Given the description of an element on the screen output the (x, y) to click on. 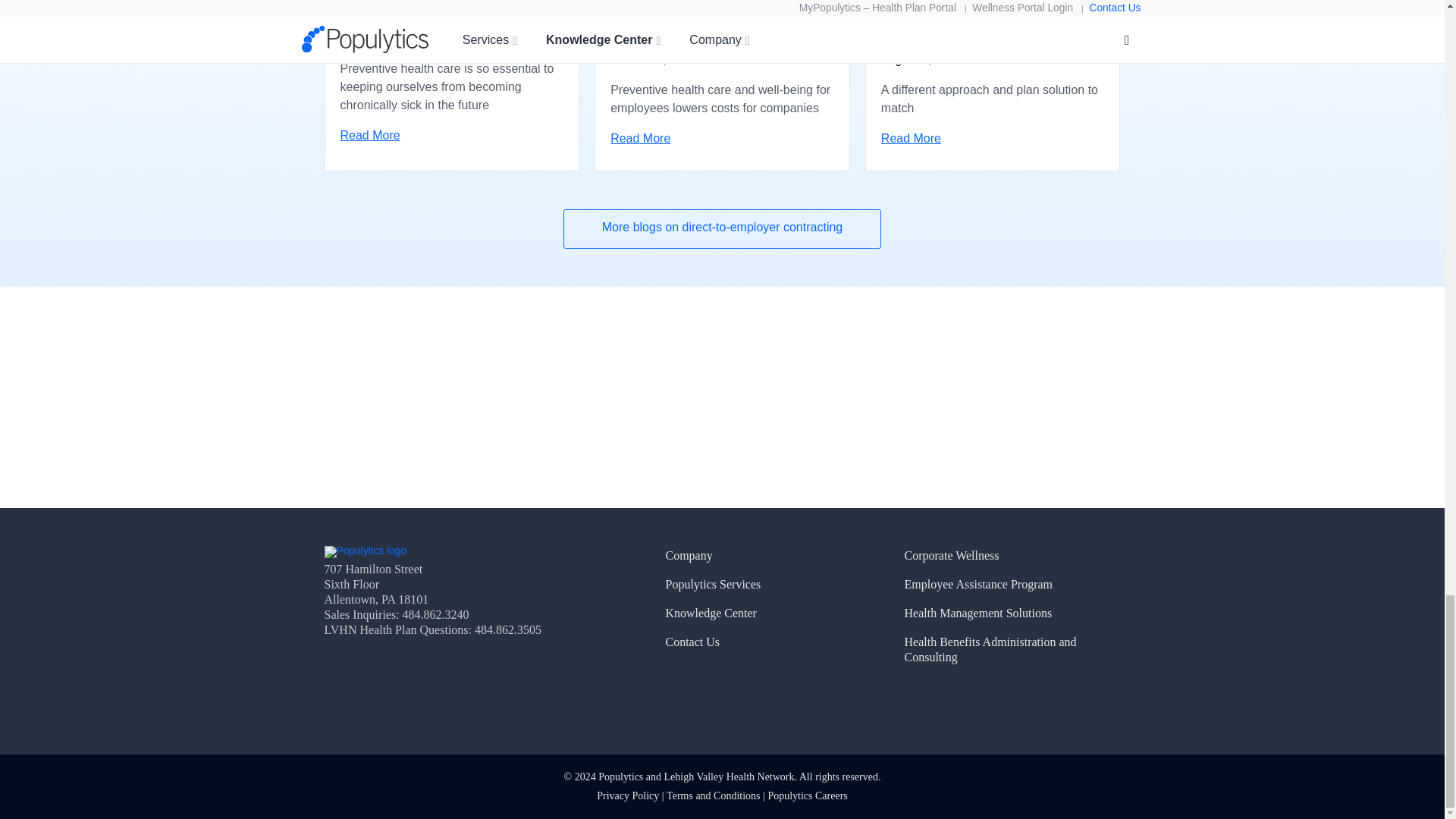
Image 1 (365, 551)
